Given the description of an element on the screen output the (x, y) to click on. 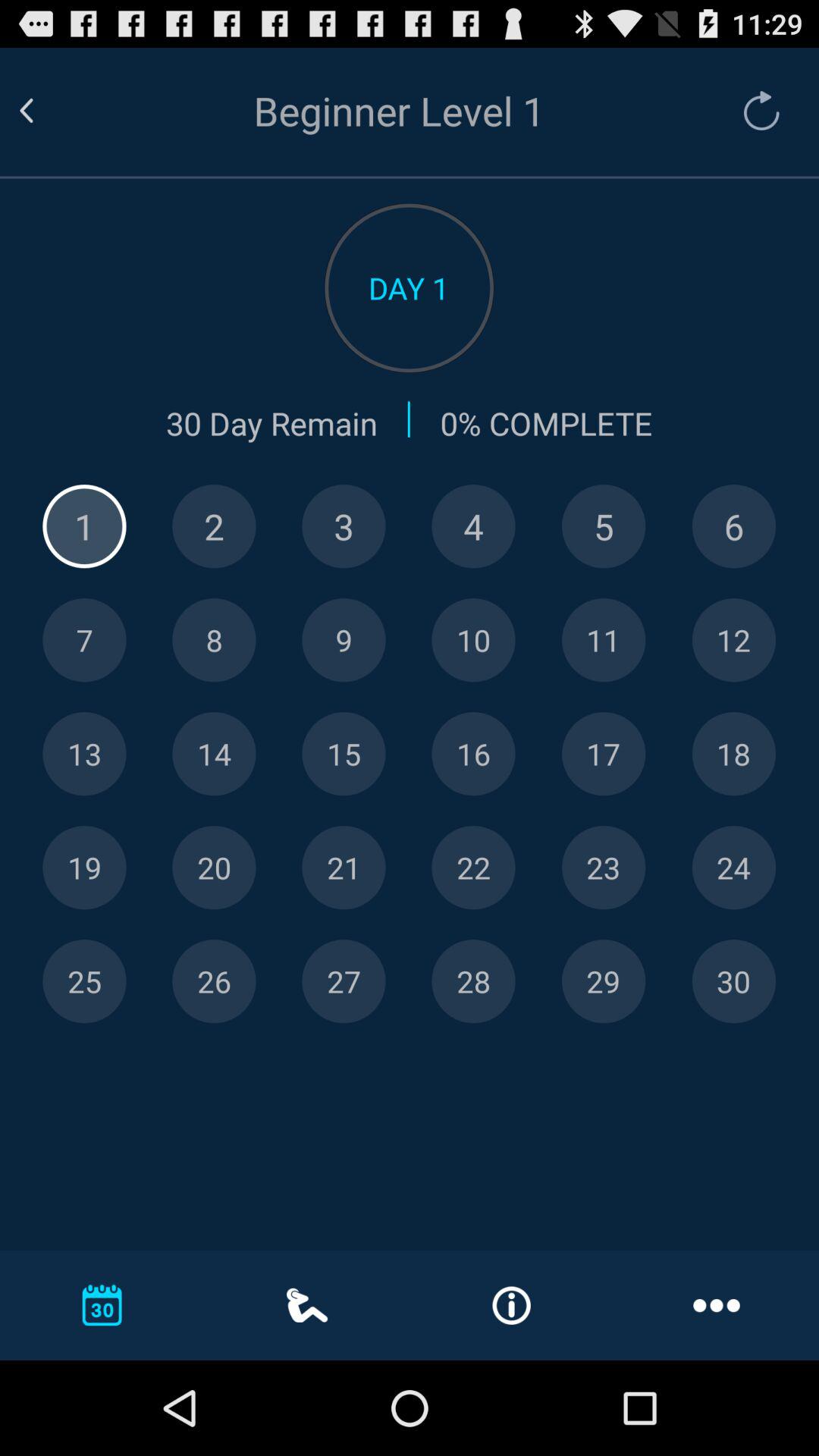
day 3 (343, 526)
